Given the description of an element on the screen output the (x, y) to click on. 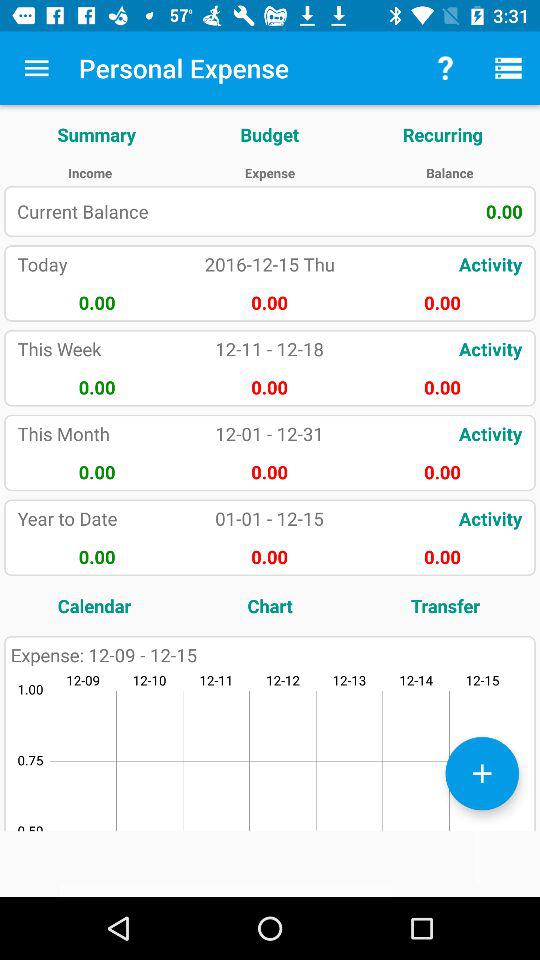
add expense (482, 773)
